Given the description of an element on the screen output the (x, y) to click on. 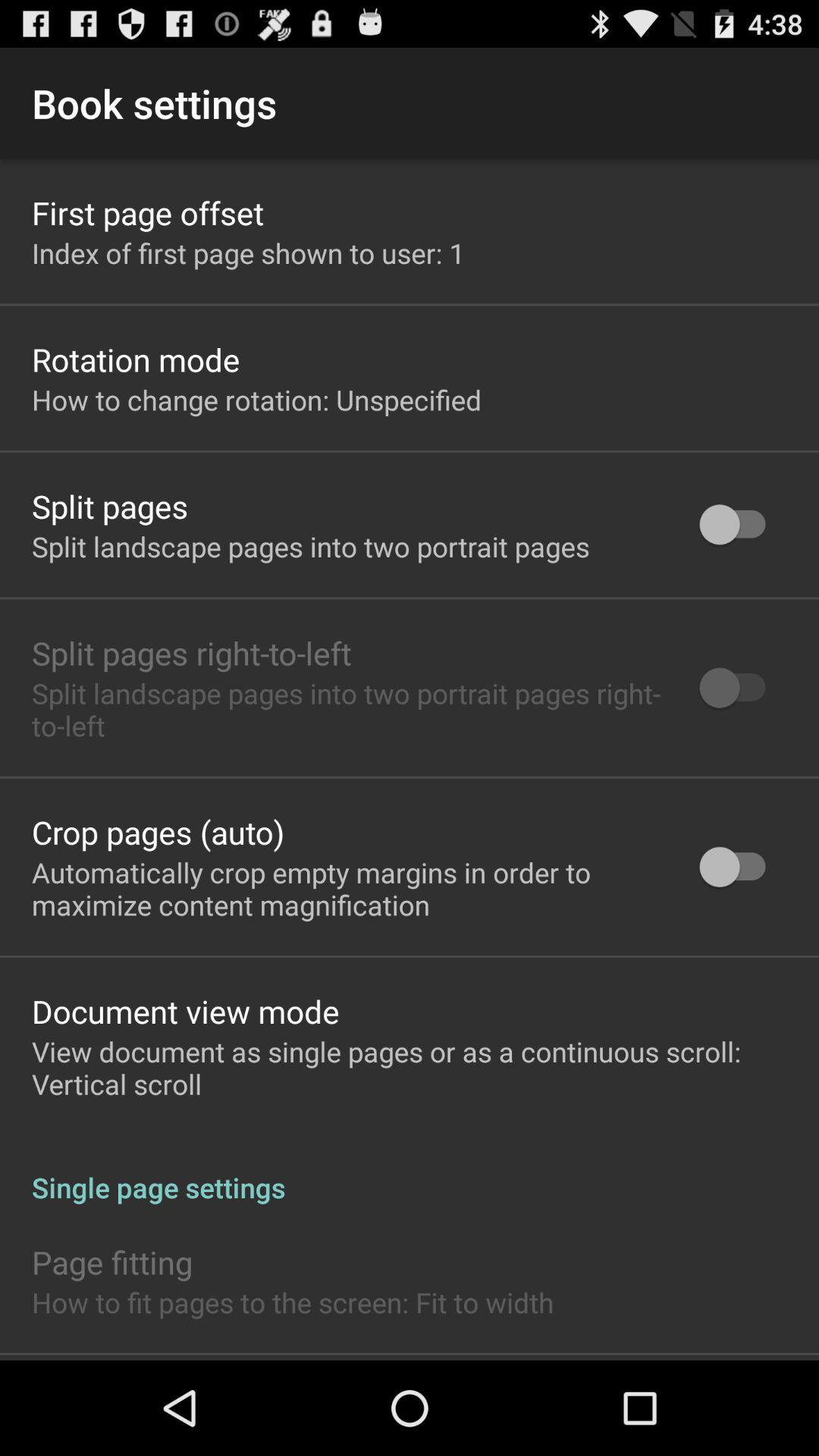
turn on the app above the page fitting (409, 1171)
